Given the description of an element on the screen output the (x, y) to click on. 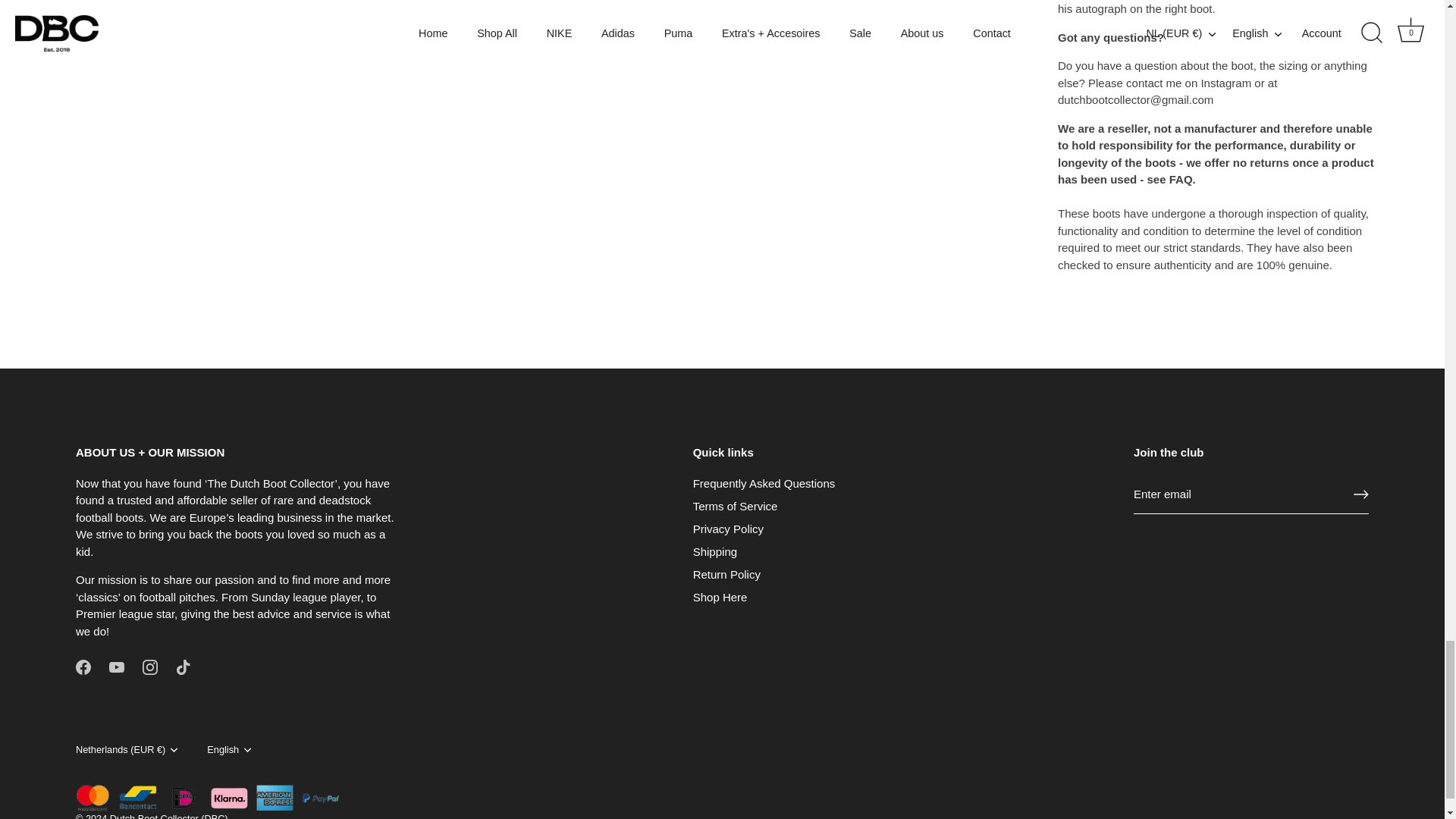
Youtube (116, 667)
RIGHT ARROW LONG (1361, 494)
Instagram (149, 667)
